Given the description of an element on the screen output the (x, y) to click on. 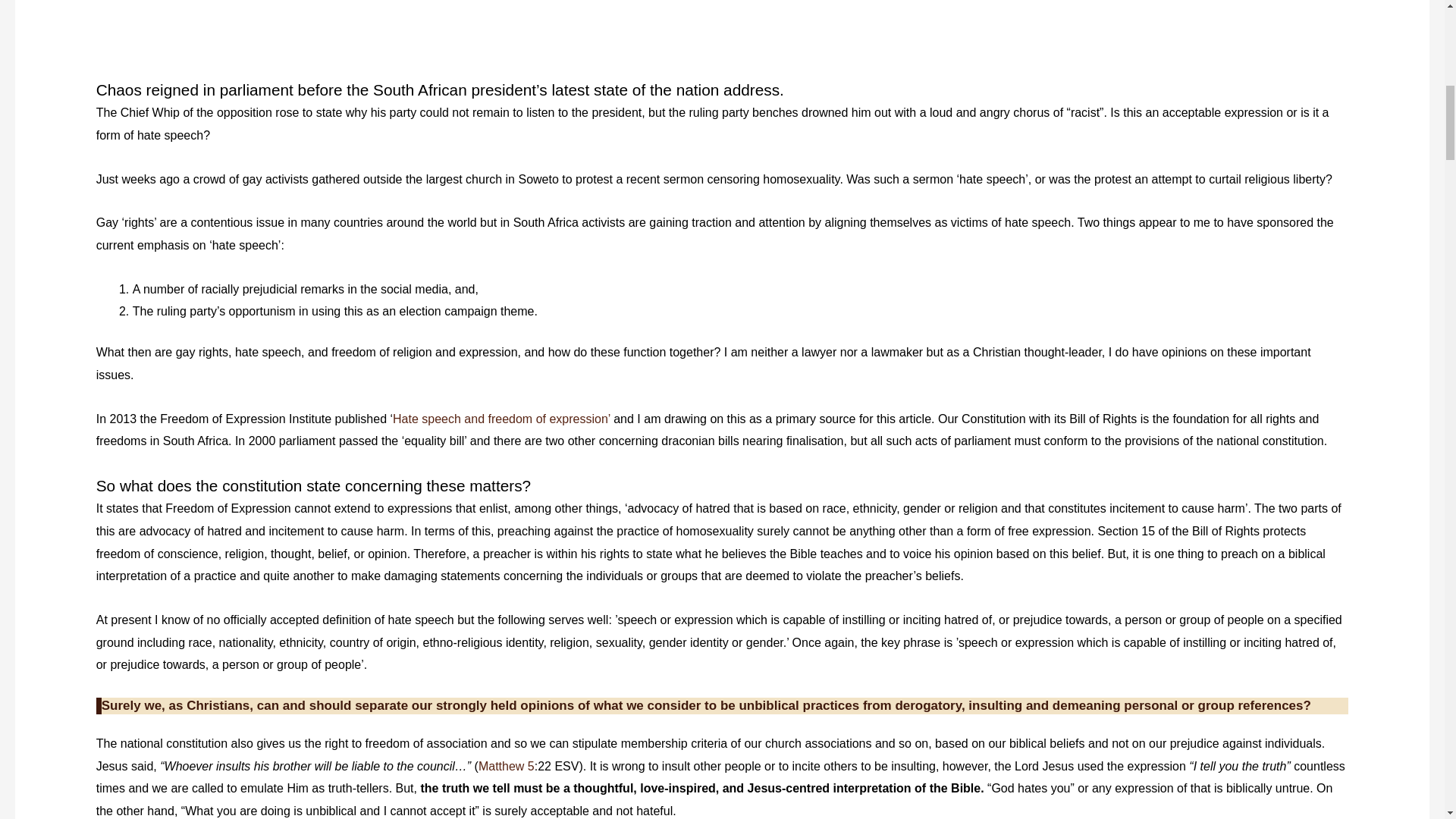
Matthew 5 (506, 766)
